Given the description of an element on the screen output the (x, y) to click on. 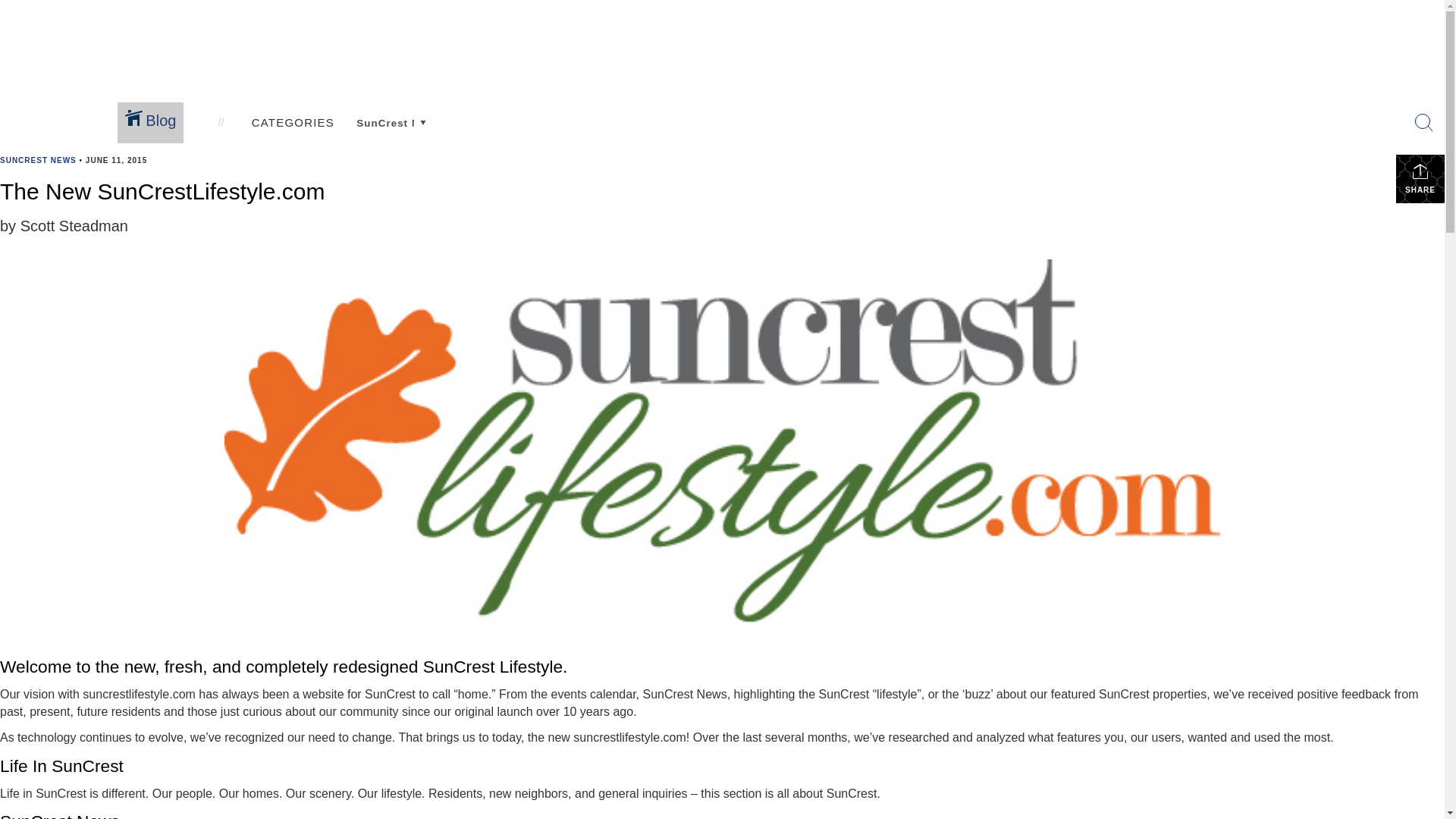
Life in SunCrest (605, 75)
SunCrest HOA (603, 184)
Home (130, 251)
Community Service (923, 248)
Calendars (513, 251)
Buy (738, 235)
Sell (737, 222)
Phone Resources (612, 248)
Events (582, 145)
SunCrest Stories (610, 210)
Blog (150, 122)
All SunCrest Homes for Sale (245, 235)
Outdoors (589, 120)
Featured Properties (222, 222)
Trails (579, 132)
